Given the description of an element on the screen output the (x, y) to click on. 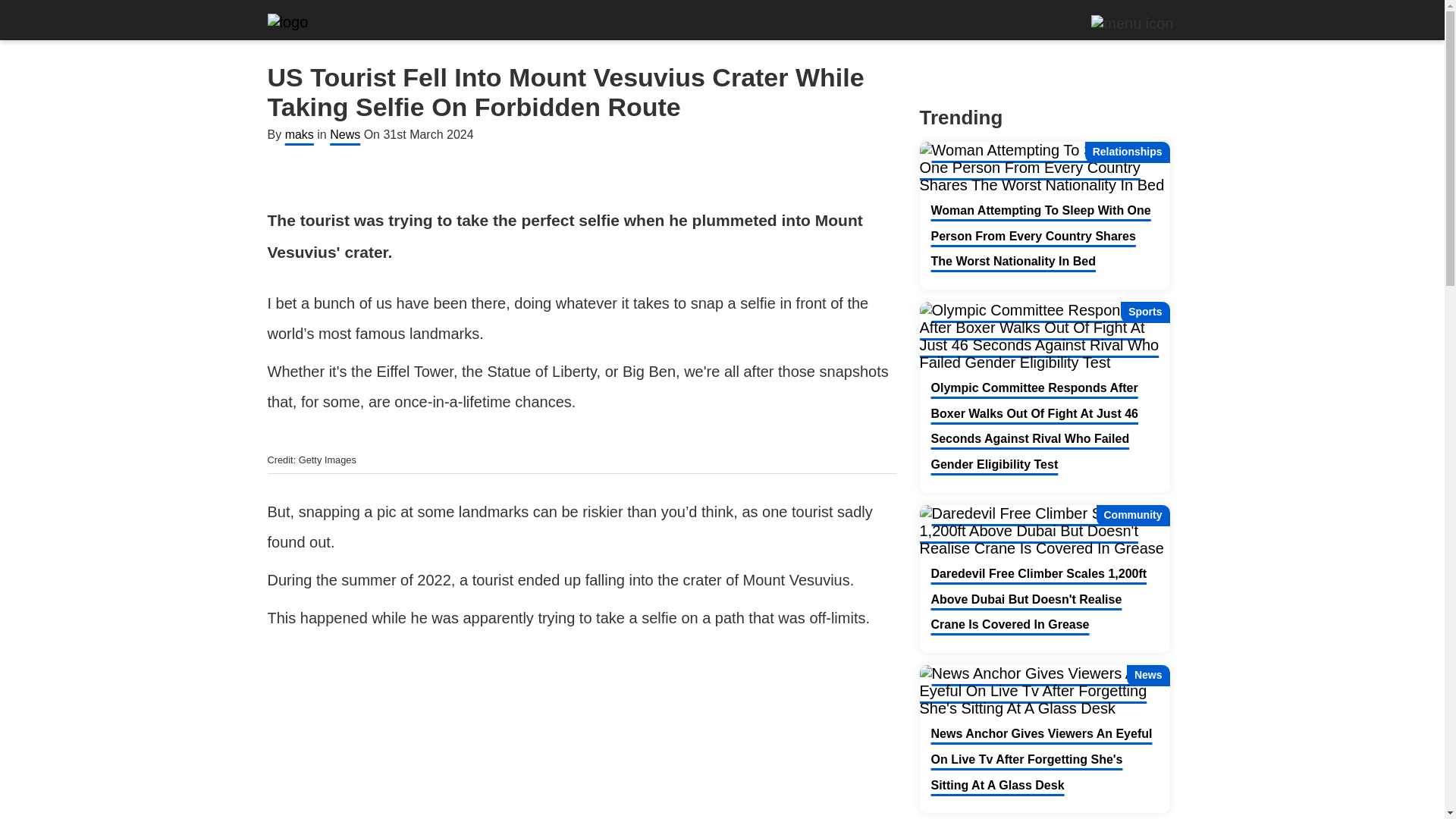
Home (286, 22)
Sports (1043, 336)
News (1043, 691)
